Given the description of an element on the screen output the (x, y) to click on. 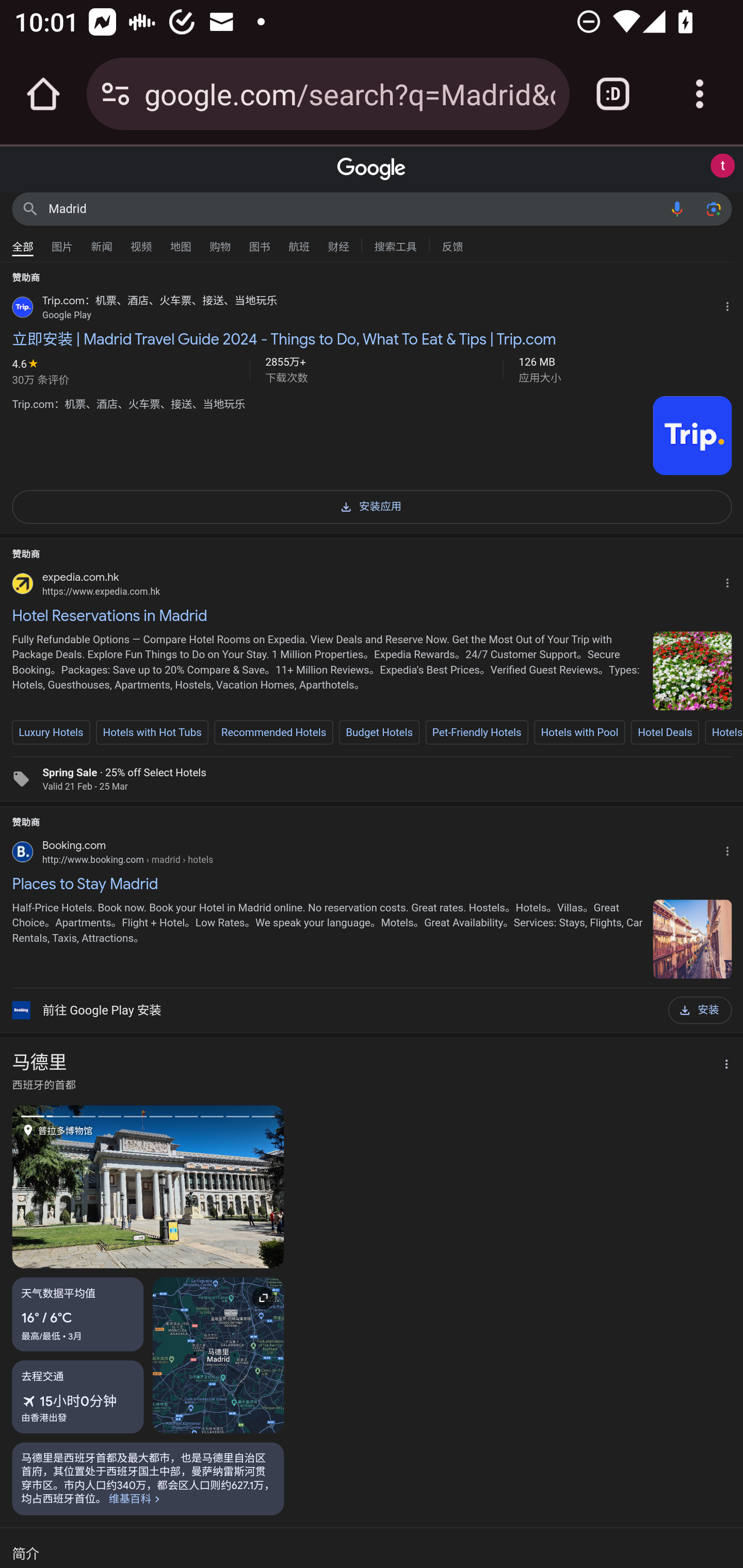
Open the home page (43, 93)
Connection is secure (115, 93)
Switch or close tabs (612, 93)
Customize and control Google Chrome (699, 93)
Google (371, 169)
Google 账号： test appium (testappium002@gmail.com) (722, 165)
Google 搜索 (29, 208)
使用拍照功能或照片进行搜索 (712, 208)
Madrid (353, 208)
图片 (62, 241)
新闻 (101, 241)
视频 (141, 241)
地图 (180, 241)
购物 (219, 241)
图书 (259, 241)
航班 (299, 241)
财经 (338, 241)
搜索工具 (395, 244)
反馈 (452, 244)
为什么会显示该广告？ (731, 303)
图片来自 google.com (691, 435)
安装应用 (371, 505)
为什么会显示该广告？ (731, 579)
Hotel Reservations in Madrid (371, 615)
图片来自 expedia.com.hk (691, 670)
Luxury Hotels (50, 731)
Hotels with Hot Tubs (151, 731)
Recommended Hotels (272, 731)
Budget Hotels (378, 731)
Pet-Friendly Hotels (476, 731)
Hotels with Pool (579, 731)
Hotel Deals (664, 731)
为什么会显示该广告？ (731, 848)
Places to Stay Madrid (371, 884)
图片来自 booking.com (691, 938)
安装 (699, 1009)
更多选项 (720, 1064)
上一张图片 (79, 1185)
下一张图片 (215, 1185)
天气数据平均值 16° / 6°C 最高/最低 • 3月 (77, 1313)
展开地图 (217, 1354)
去程交通 15小时 乘坐飞机 由香港出發 (77, 1396)
%E9%A9%AC%E5%BE%B7%E9%87%8C (147, 1478)
